Given the description of an element on the screen output the (x, y) to click on. 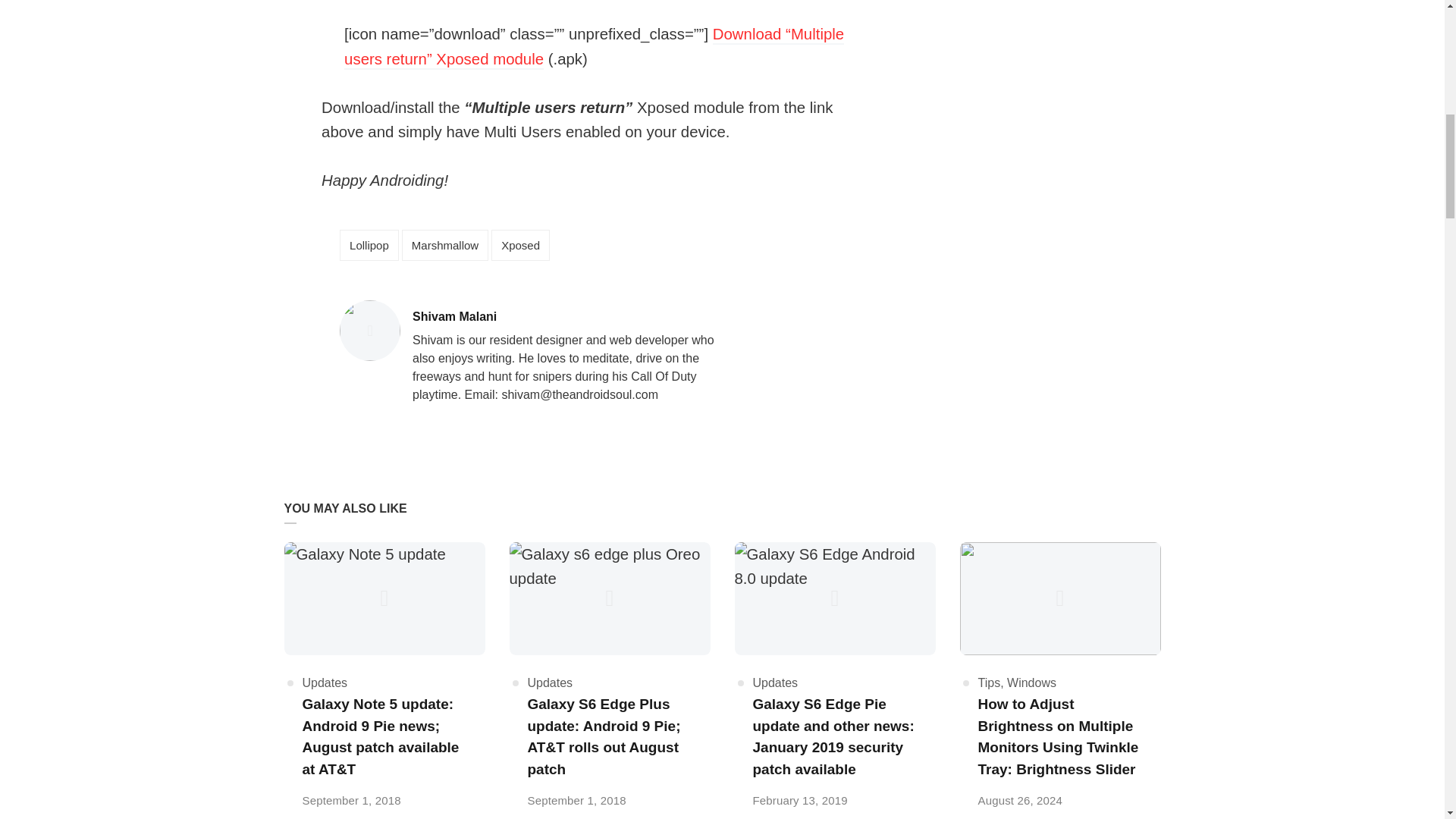
Xposed (521, 245)
Marshmallow (444, 245)
Windows (1032, 682)
Updates (550, 682)
Lollipop (368, 245)
Updates (774, 682)
Tips (989, 682)
Updates (324, 682)
